Given the description of an element on the screen output the (x, y) to click on. 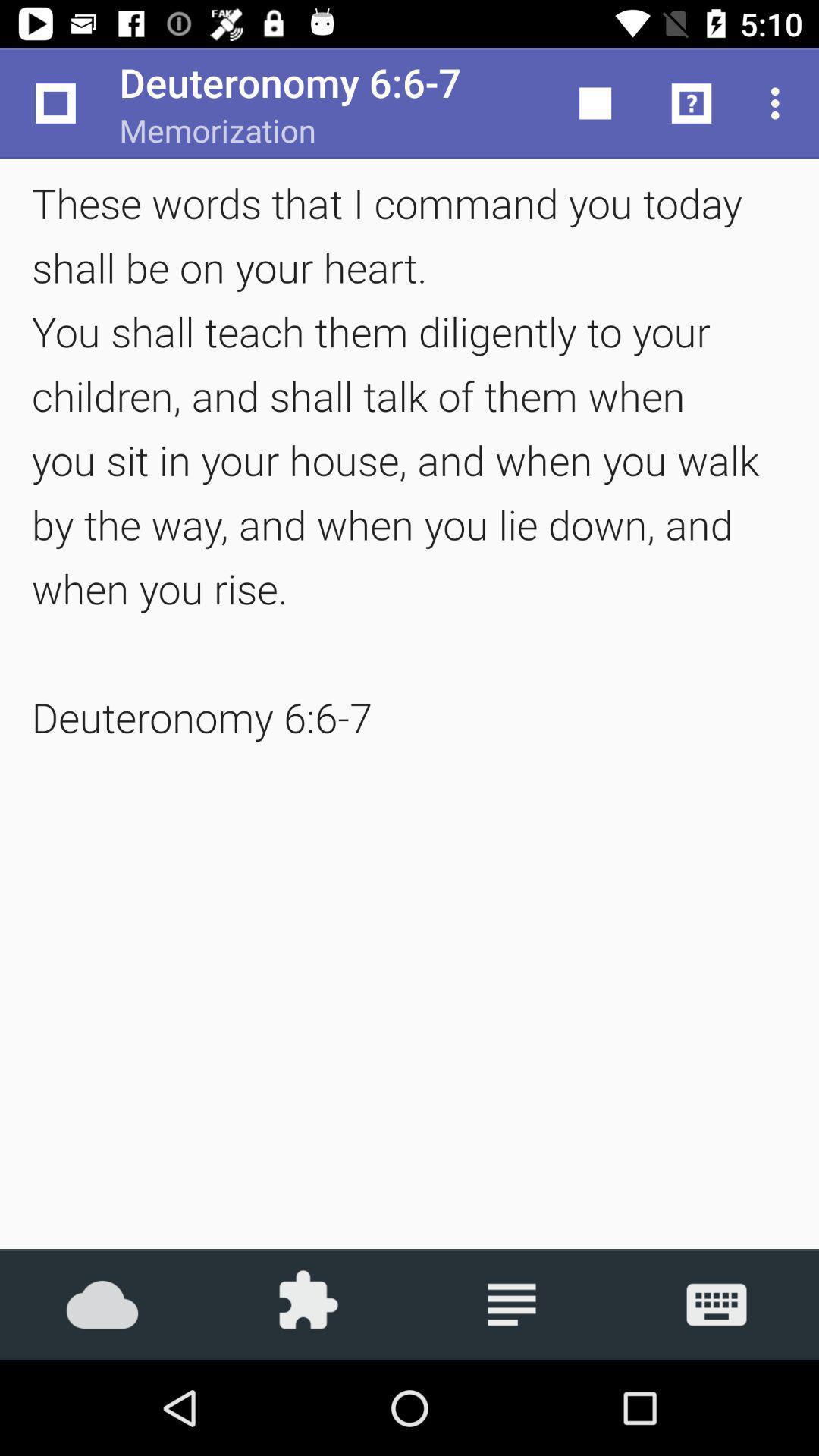
select item below the these words that (102, 1304)
